Given the description of an element on the screen output the (x, y) to click on. 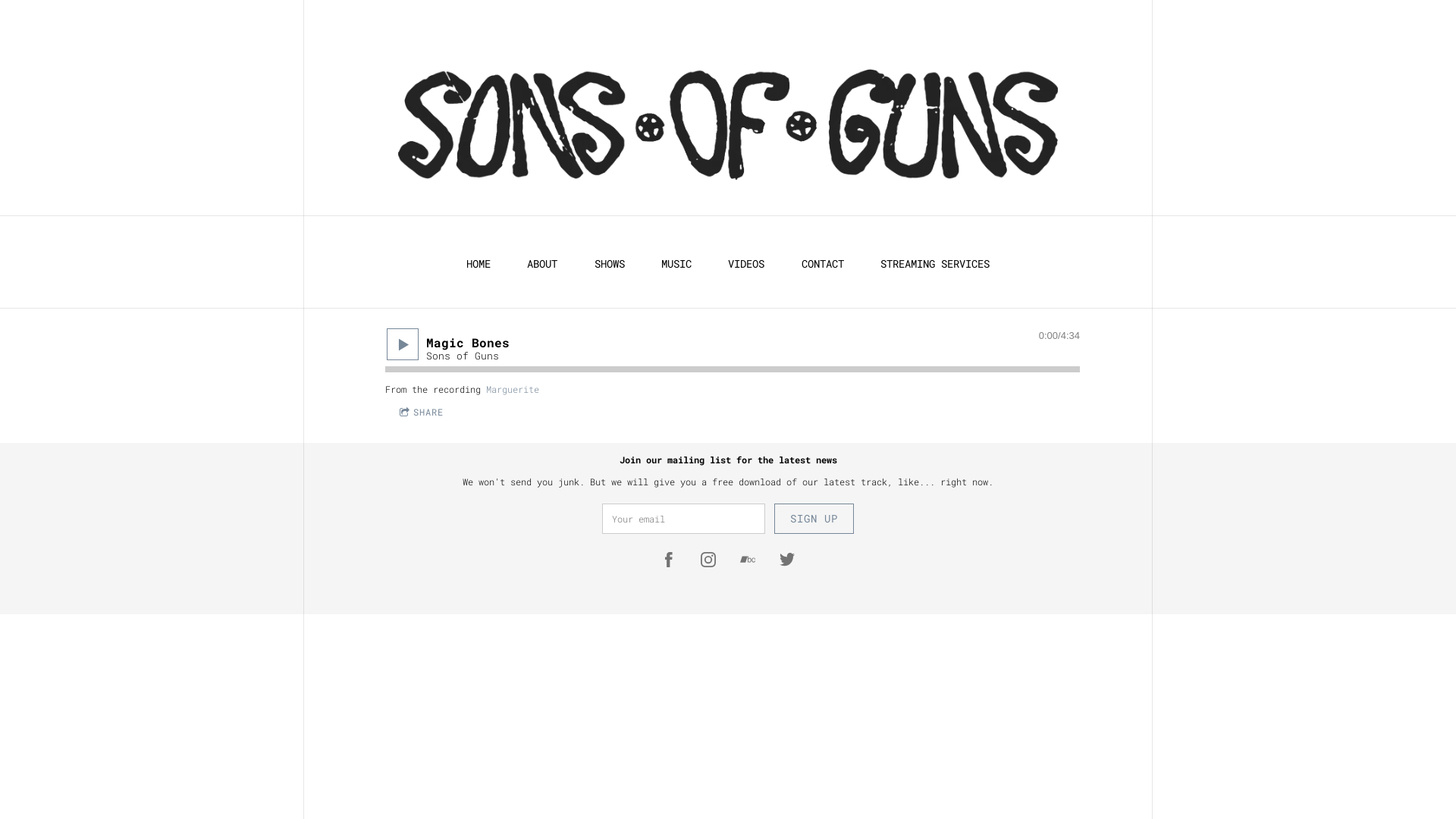
SHOWS Element type: text (609, 263)
VIDEOS Element type: text (746, 263)
SIGN UP Element type: text (813, 518)
CONTACT Element type: text (822, 263)
https://twitter.com/sonsofgunsband Element type: hover (786, 559)
HOME Element type: text (478, 263)
https://sonsofgunstheband.bandcamp.com/ Element type: hover (747, 559)
https://www.facebook.com/sonsofgunsmusic Element type: hover (668, 559)
https://instagram.com/sonsofgunsmusic Element type: hover (707, 559)
Marguerite Element type: text (512, 388)
Play Element type: hover (402, 344)
MUSIC Element type: text (676, 263)
SHARE Element type: text (421, 411)
ABOUT Element type: text (542, 263)
STREAMING SERVICES Element type: text (934, 263)
